Given the description of an element on the screen output the (x, y) to click on. 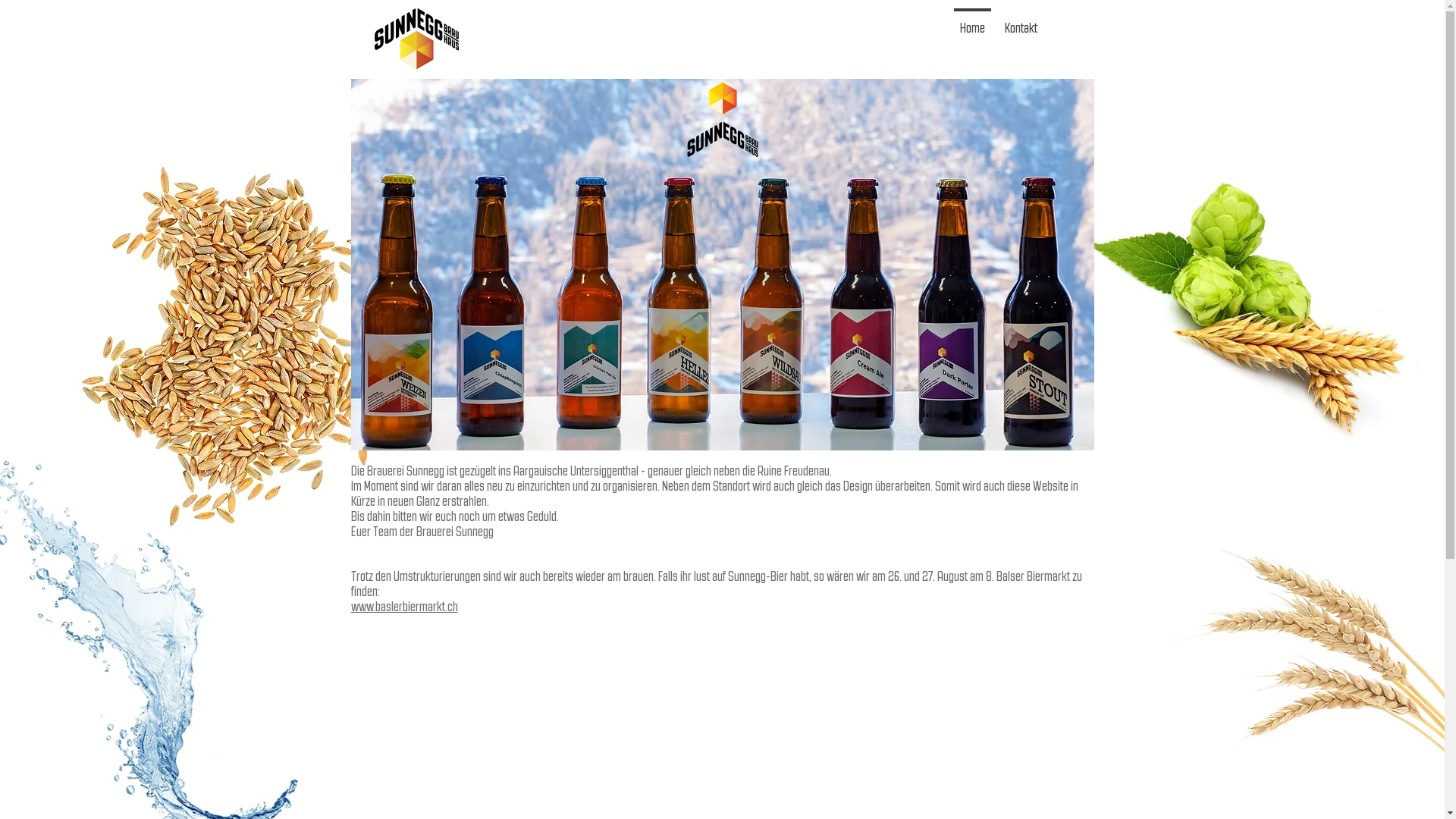
www.baslerbiermarkt.ch Element type: text (403, 606)
Home Element type: text (971, 21)
Kontakt Element type: text (1020, 21)
